Given the description of an element on the screen output the (x, y) to click on. 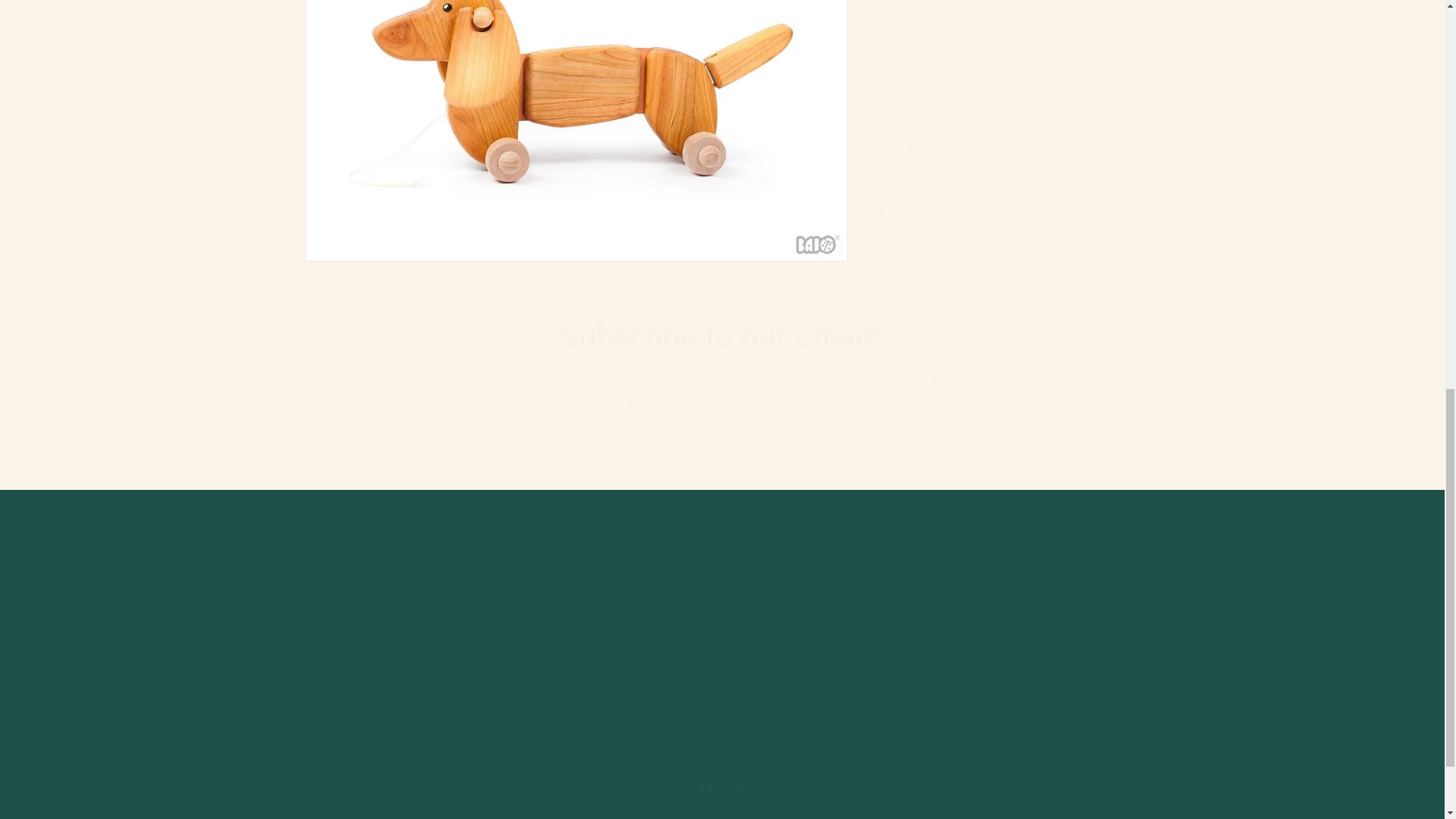
Subscribe to our emails (721, 335)
Email (721, 788)
